Given the description of an element on the screen output the (x, y) to click on. 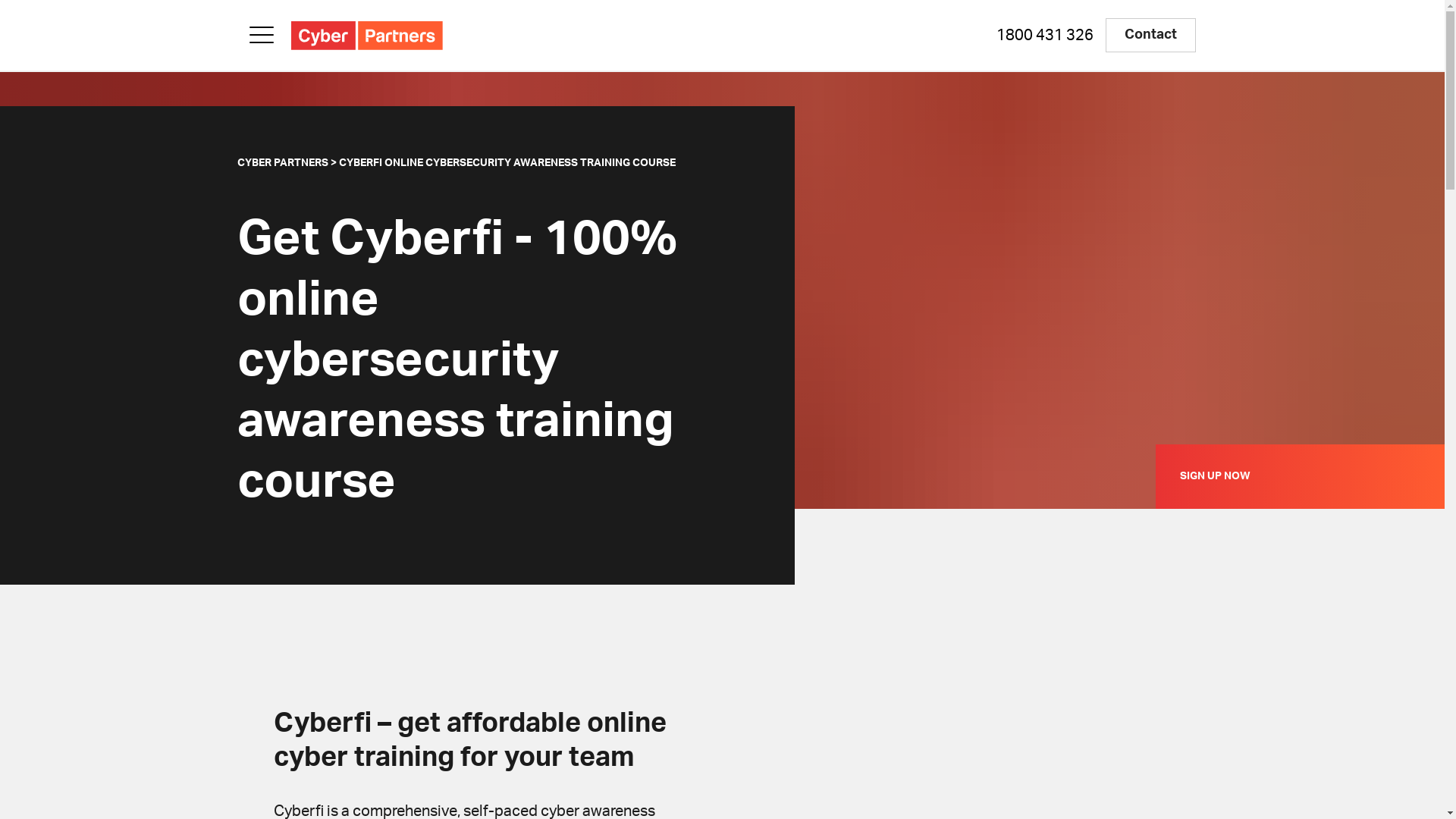
Contact Element type: text (1150, 35)
SIGN UP NOW Element type: text (1299, 476)
CYBER PARTNERS Element type: text (281, 162)
